Given the description of an element on the screen output the (x, y) to click on. 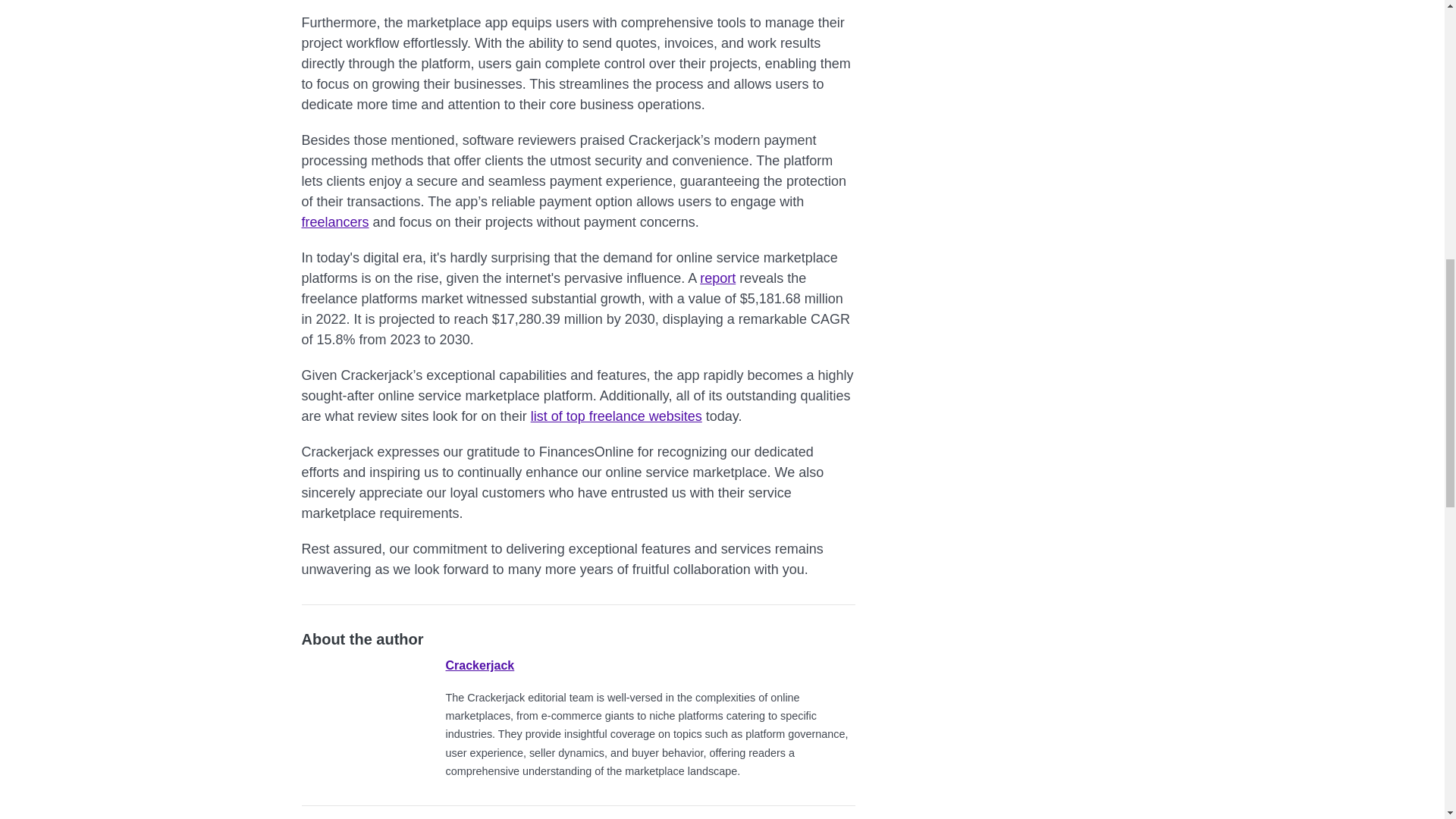
Crackerjack (480, 665)
list of top freelance websites (616, 416)
freelancers (335, 222)
report (717, 278)
Posts by Crackerjack (480, 665)
